Given the description of an element on the screen output the (x, y) to click on. 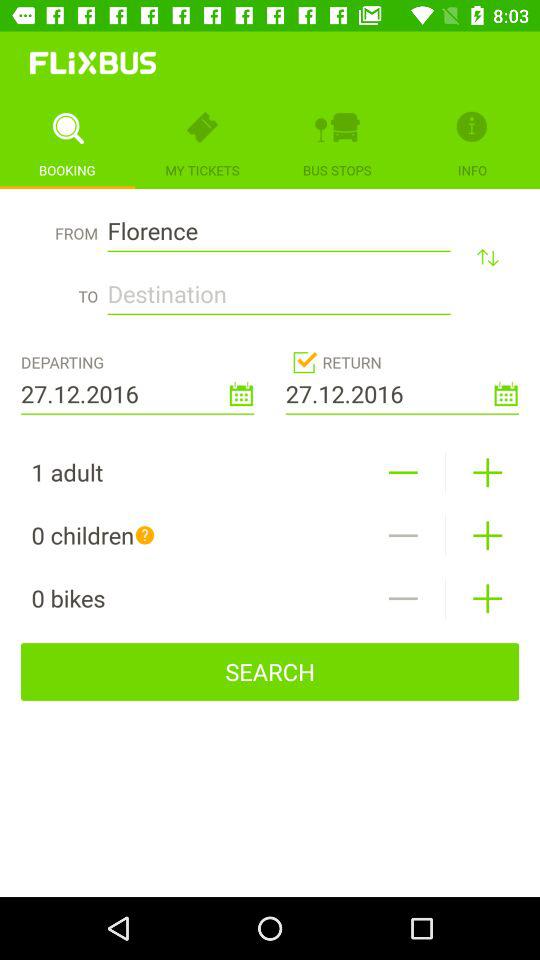
toggle the bike quantity (402, 598)
